Given the description of an element on the screen output the (x, y) to click on. 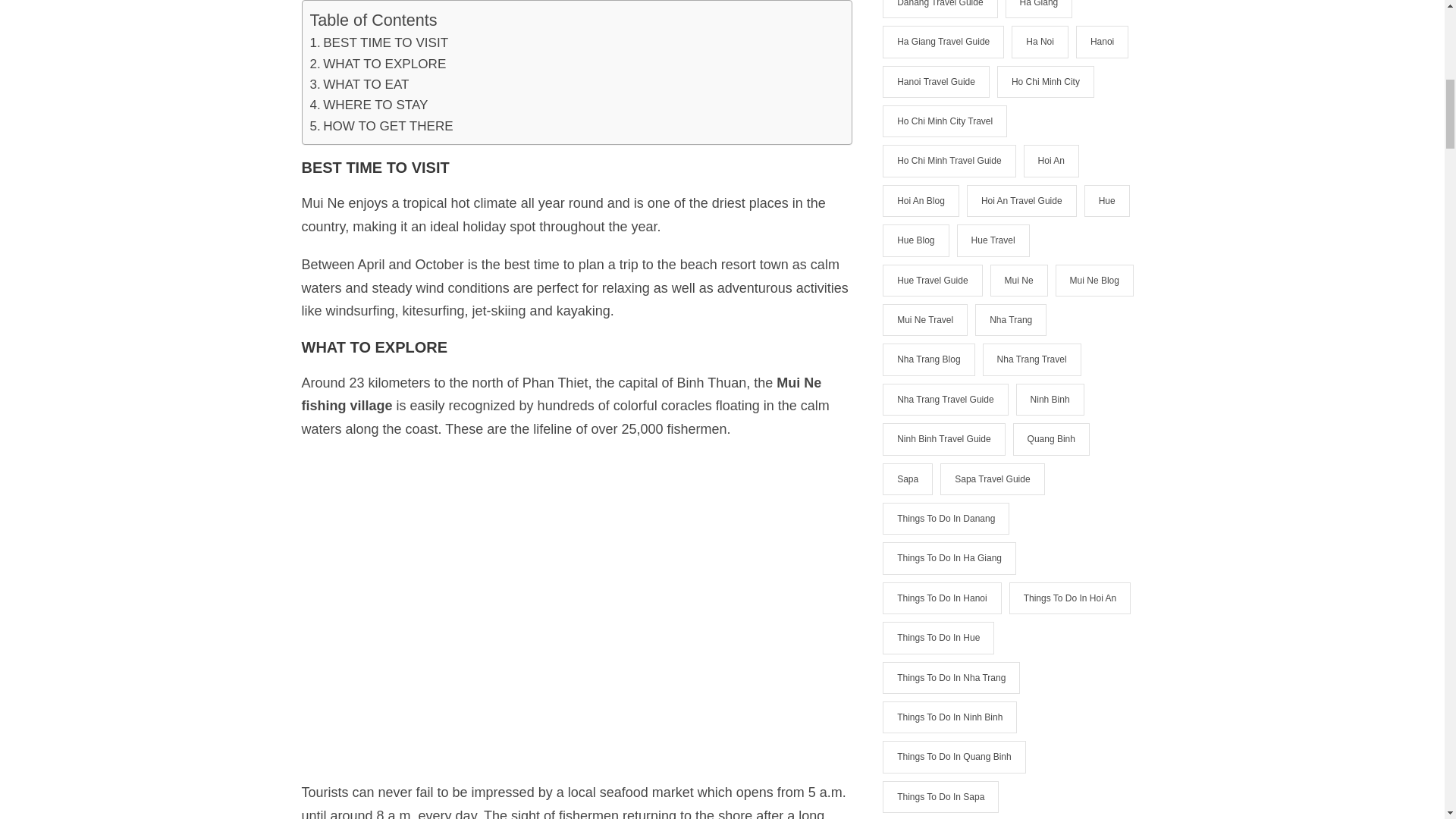
HOW TO GET THERE (380, 125)
BEST TIME TO VISIT (378, 42)
WHAT TO EXPLORE (376, 63)
WHERE TO STAY (368, 104)
WHAT TO EAT (358, 83)
